Given the description of an element on the screen output the (x, y) to click on. 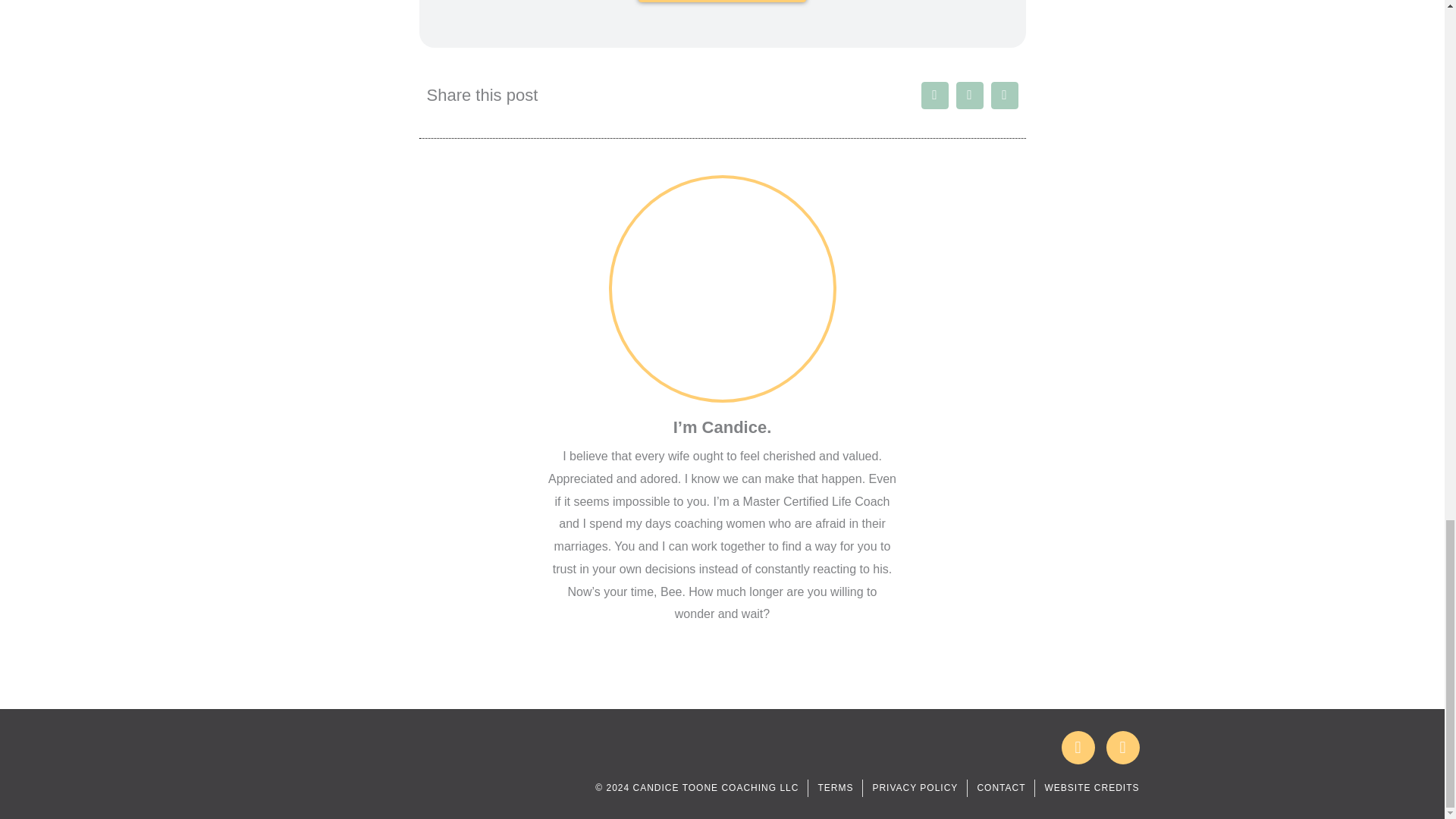
Instagram (1121, 747)
Facebook-f (1077, 747)
WEBSITE CREDITS (1090, 787)
PRIVACY POLICY (915, 787)
TERMS (834, 787)
GET THE FREE COURSE (722, 1)
CONTACT (1000, 787)
